Given the description of an element on the screen output the (x, y) to click on. 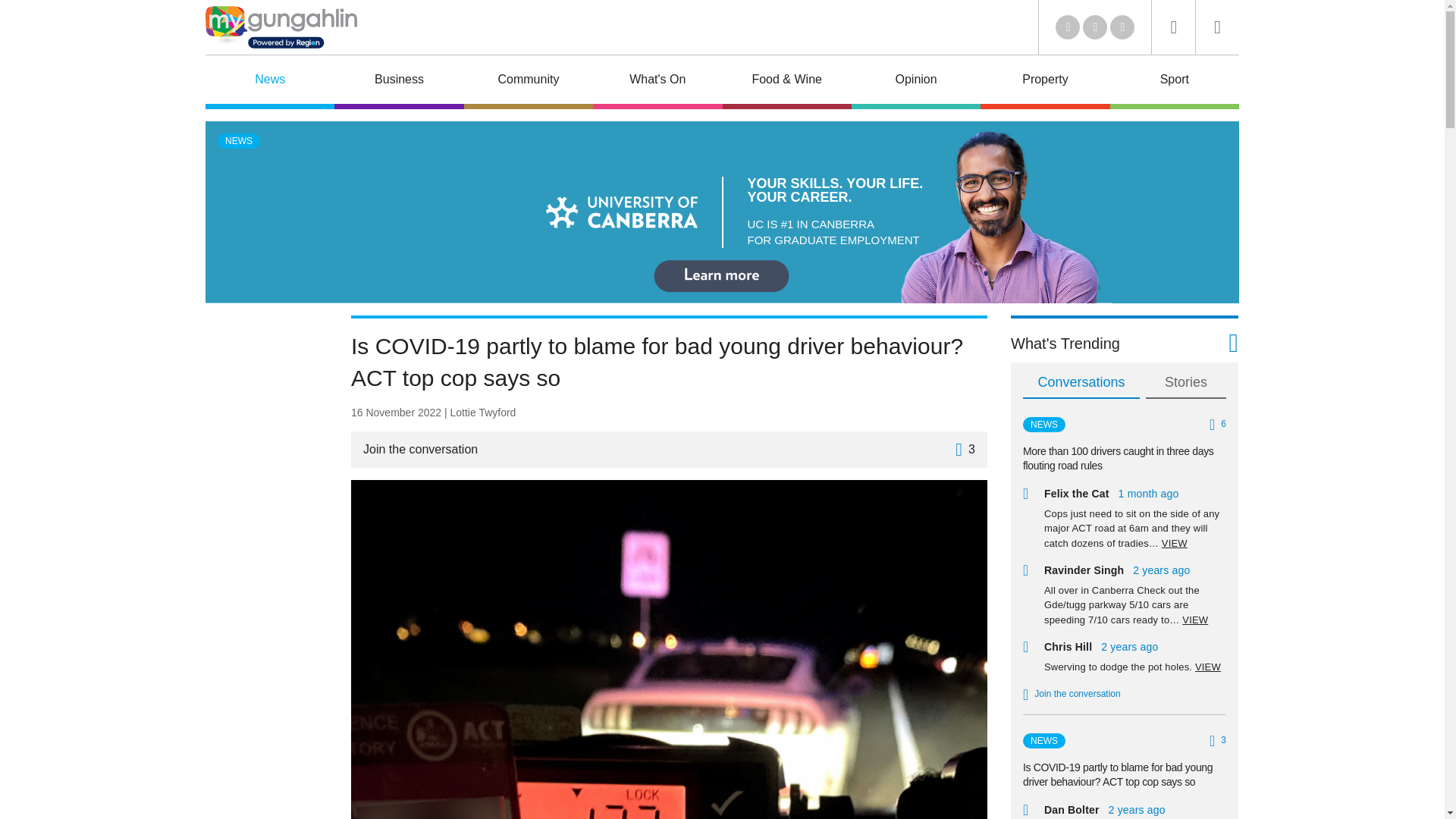
Twitter (1067, 27)
Business (398, 81)
Instagram (1121, 27)
News (269, 81)
My Gungahlin Home (280, 26)
Community (528, 81)
Facebook (1094, 27)
